Given the description of an element on the screen output the (x, y) to click on. 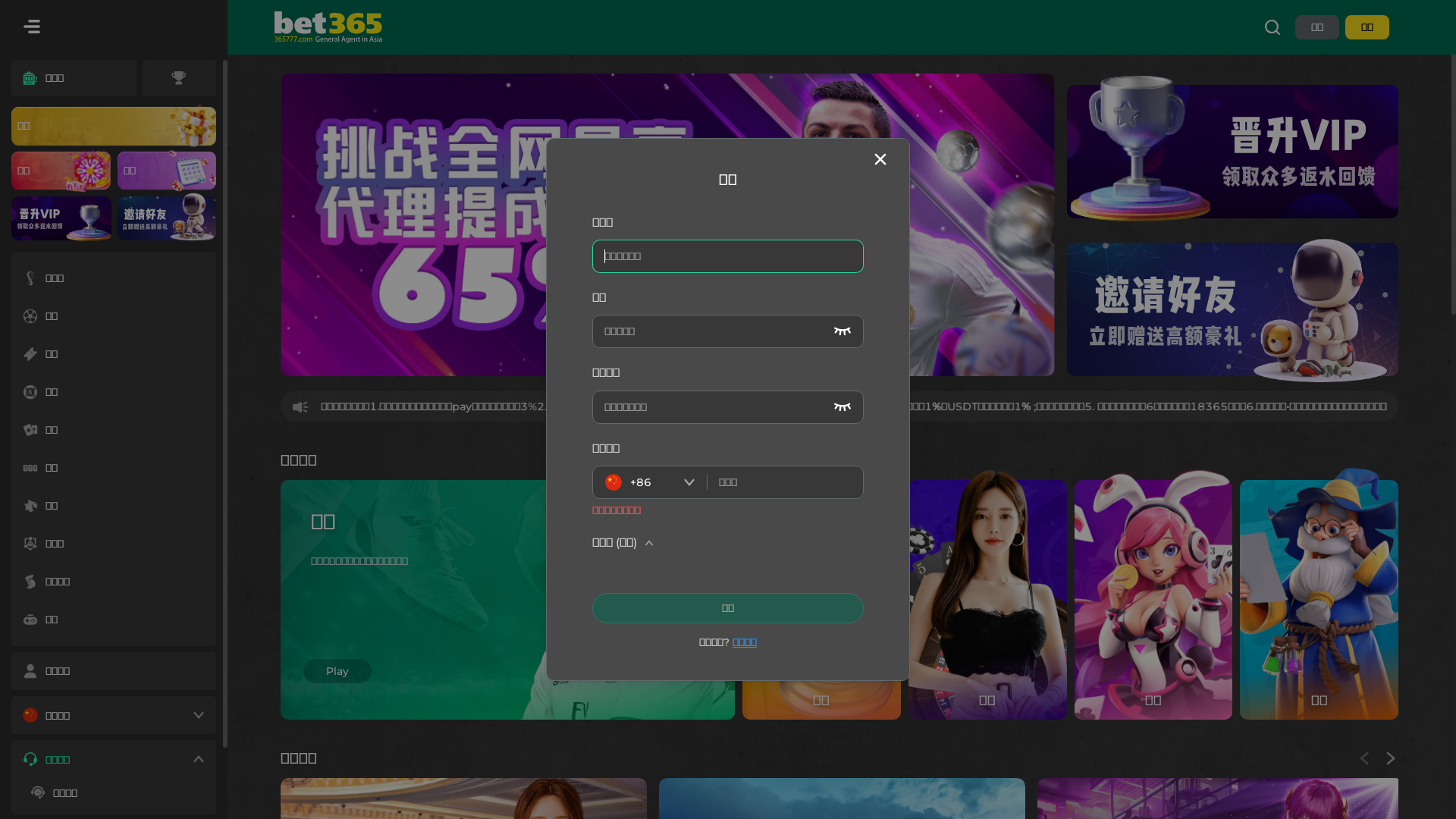
Play Element type: text (337, 670)
